Given the description of an element on the screen output the (x, y) to click on. 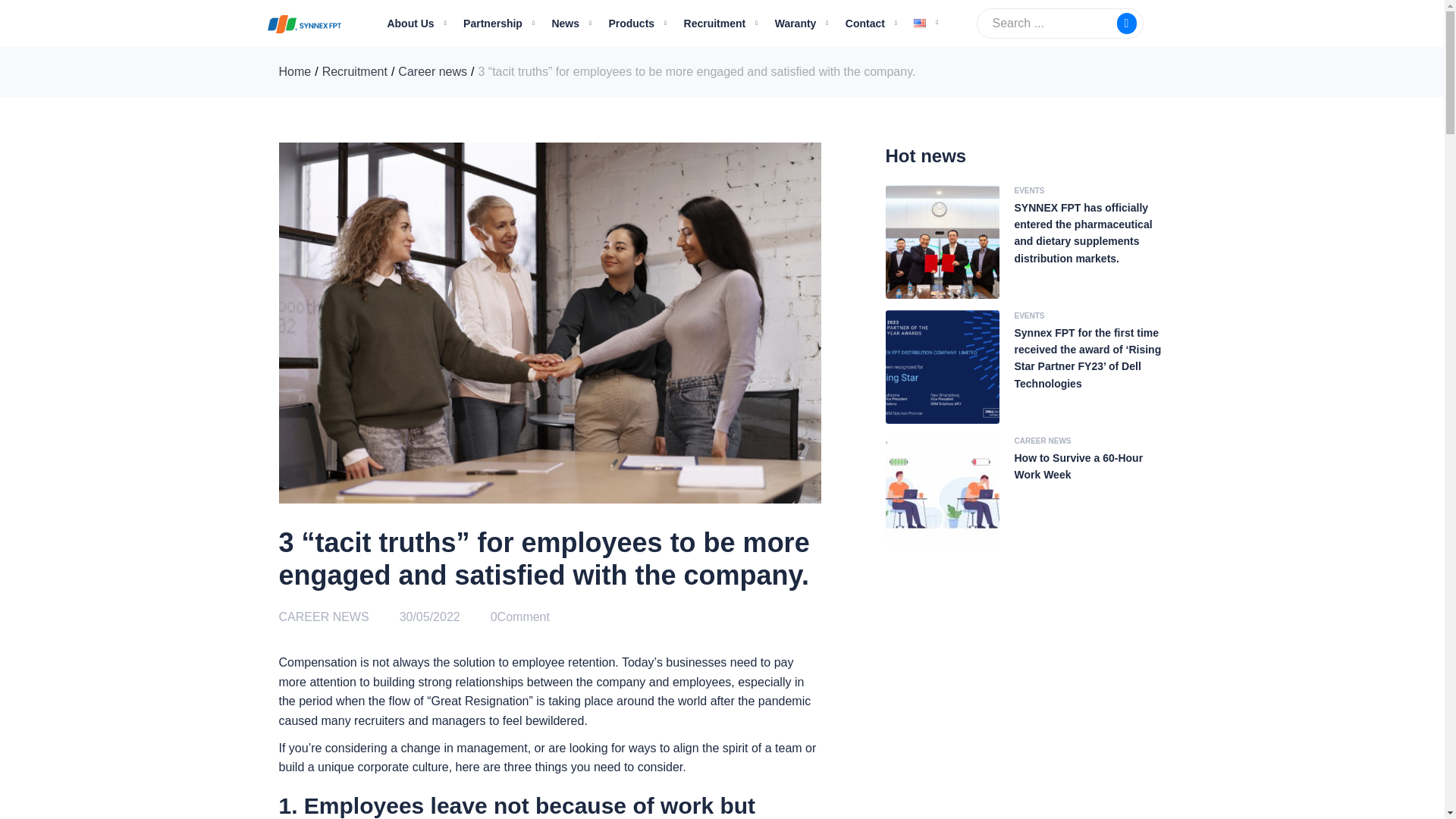
Contact (865, 23)
News (565, 23)
Waranty (795, 23)
Partnership (492, 23)
Products (630, 23)
Look How to Survive a 60-Hour Work Week (1025, 491)
Recruitment (714, 23)
Recruitment (354, 71)
About Us (410, 23)
